Given the description of an element on the screen output the (x, y) to click on. 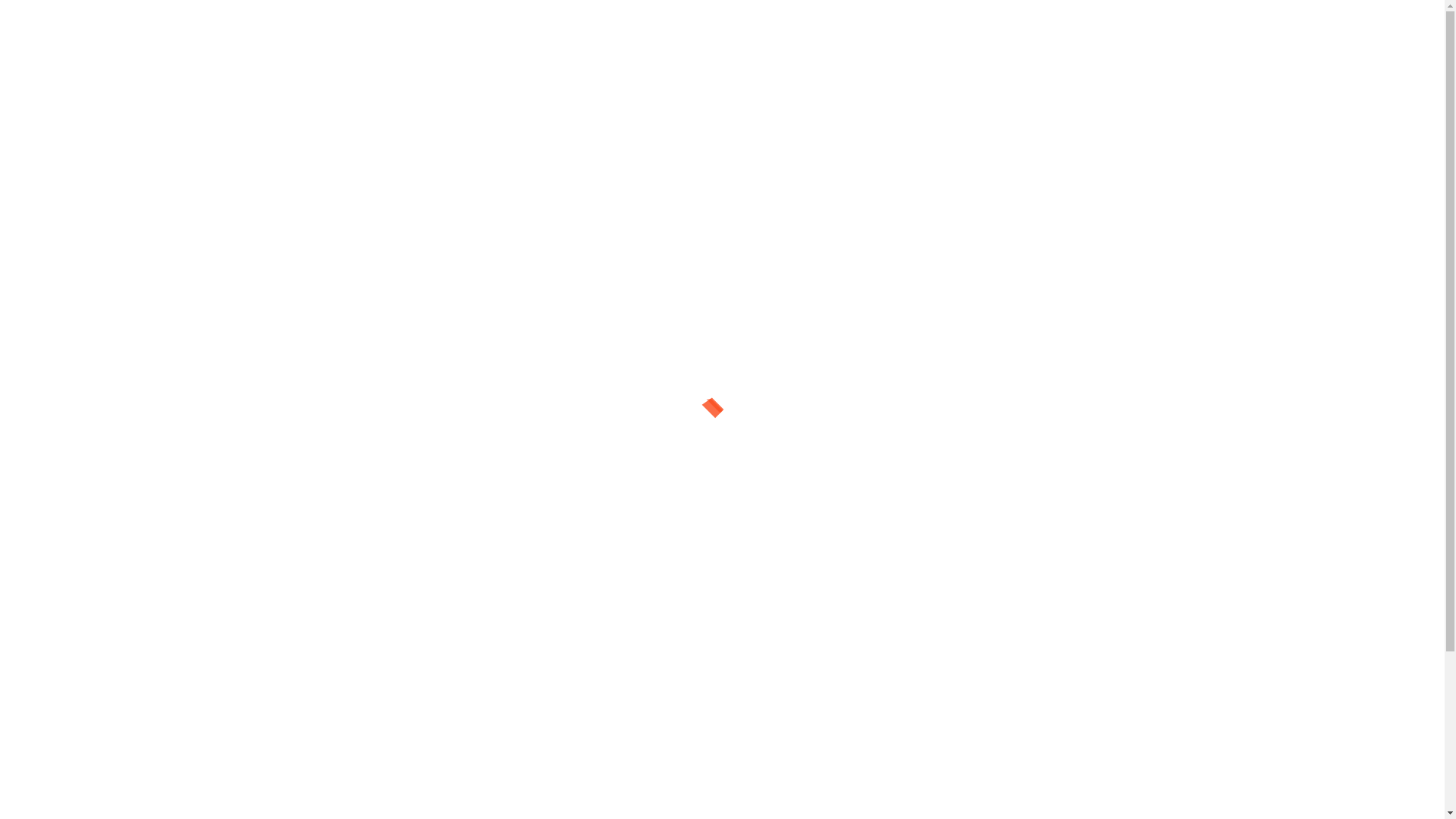
Rechercher Element type: text (641, 528)
Environnement Element type: text (494, 162)
Contact Element type: text (1055, 608)
Divertissement Element type: text (390, 162)
Rechercher Element type: text (1163, 430)
Actu Element type: text (253, 162)
Accueil Element type: text (1055, 566)
Culture Element type: text (576, 162)
Emploi Element type: text (636, 162)
